Given the description of an element on the screen output the (x, y) to click on. 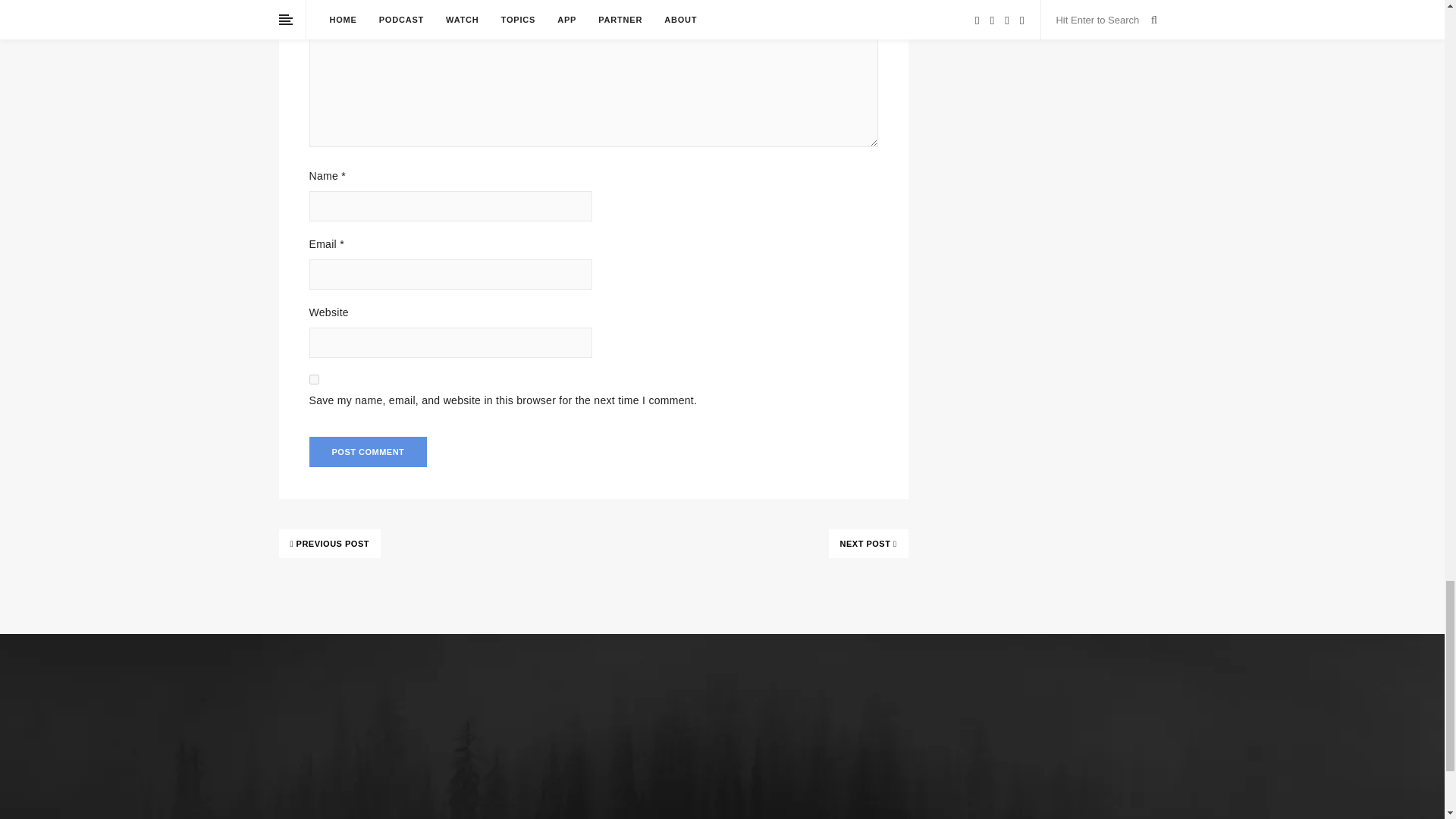
Post Comment (368, 451)
yes (313, 379)
